Given the description of an element on the screen output the (x, y) to click on. 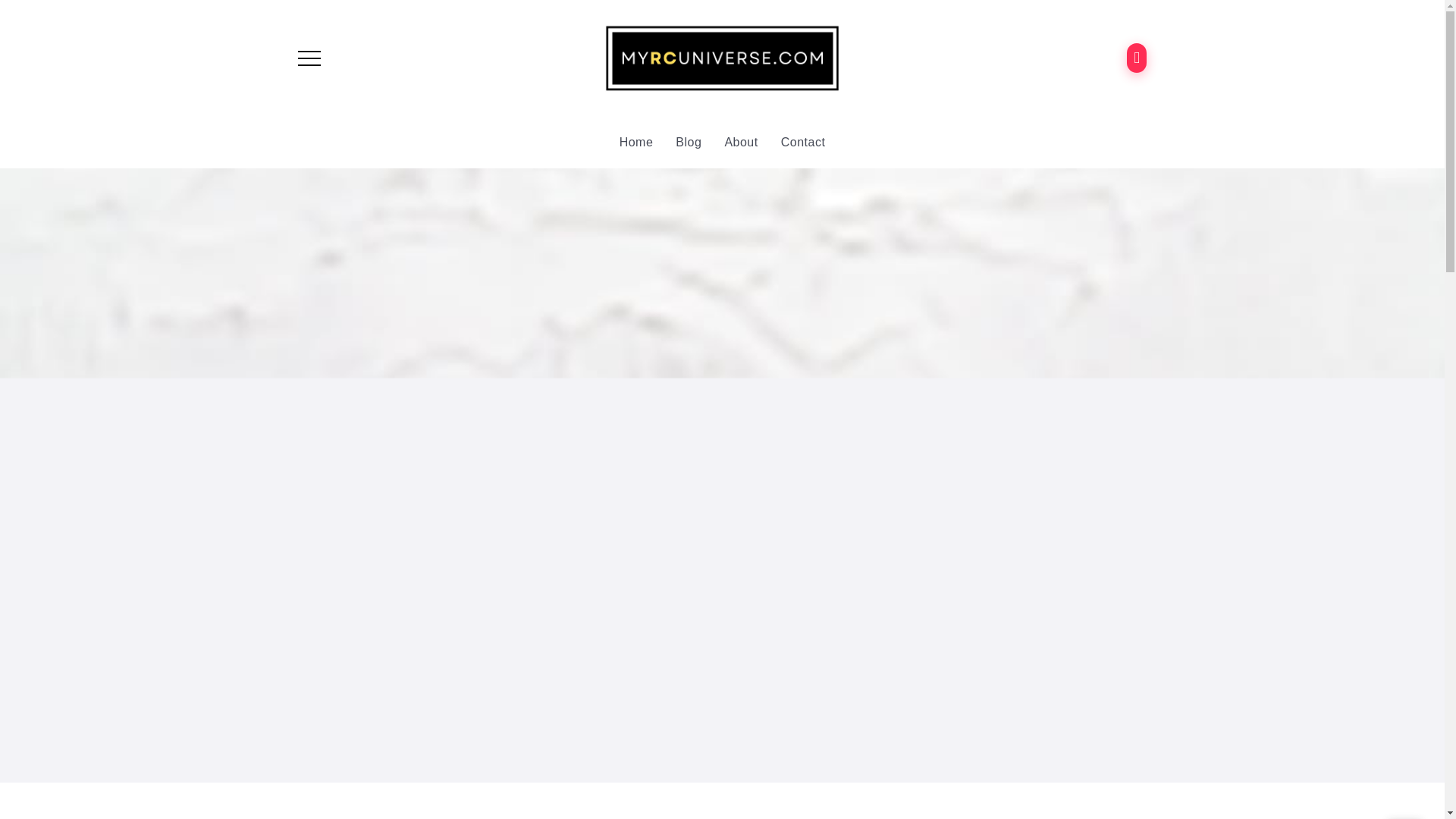
About (739, 142)
Blog (688, 142)
Contact (802, 142)
Home (635, 142)
My RC Universe (722, 56)
